Given the description of an element on the screen output the (x, y) to click on. 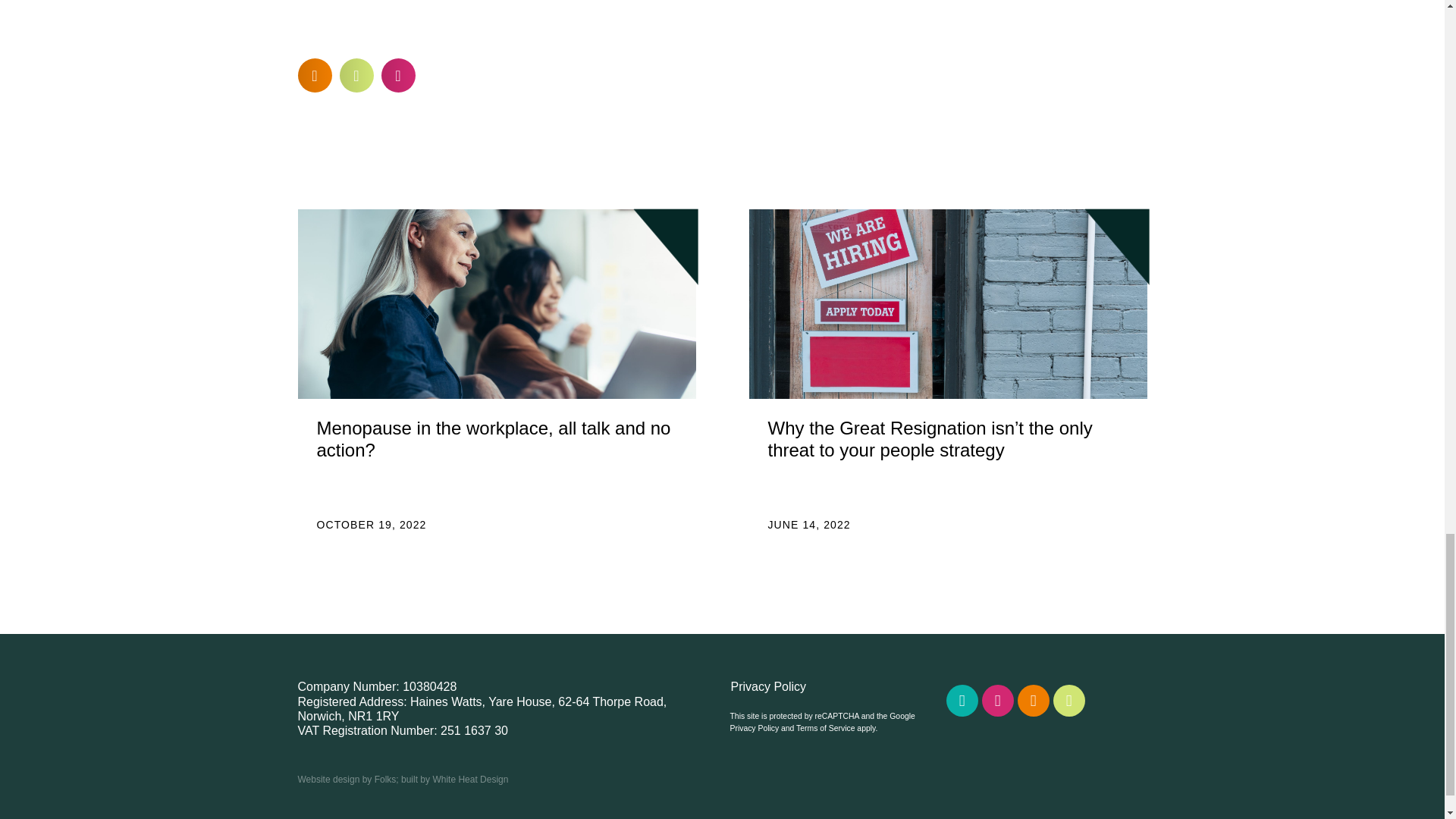
Folks (385, 778)
Menopause in the workplace, all talk and no action? (494, 438)
Terms of Service (825, 727)
White Heat Design (470, 778)
OCTOBER 19, 2022 (371, 524)
Privacy Policy (753, 727)
Privacy Policy (829, 686)
JUNE 14, 2022 (808, 524)
